Given the description of an element on the screen output the (x, y) to click on. 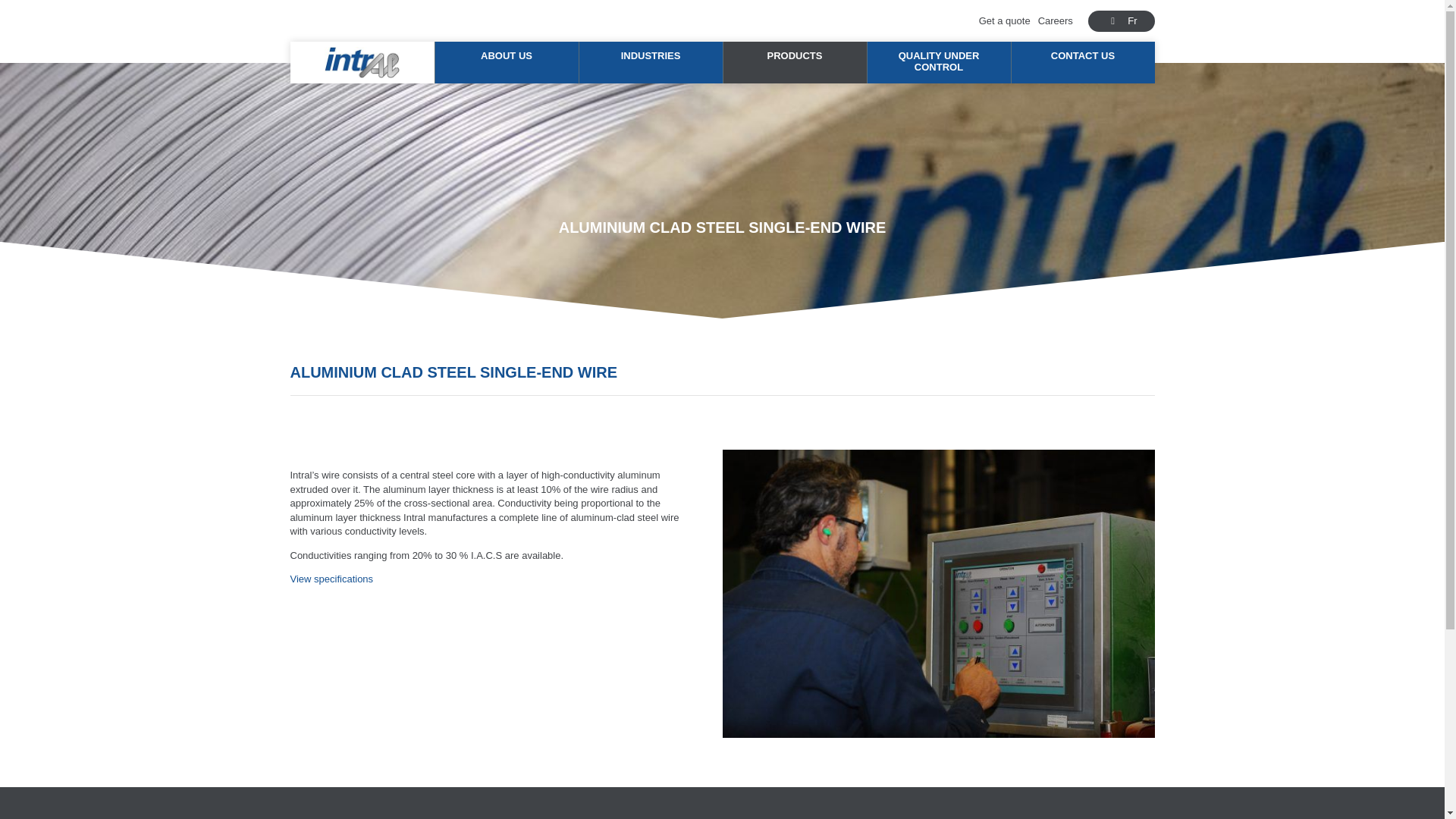
Careers (1055, 20)
View specifications (330, 578)
INDUSTRIES (650, 62)
Get a quote (1004, 20)
Intral Inc. (361, 62)
CONTACT US (1082, 62)
Get a quote (1004, 20)
Contact us (1082, 62)
Careers (1055, 20)
Our products (794, 62)
